Given the description of an element on the screen output the (x, y) to click on. 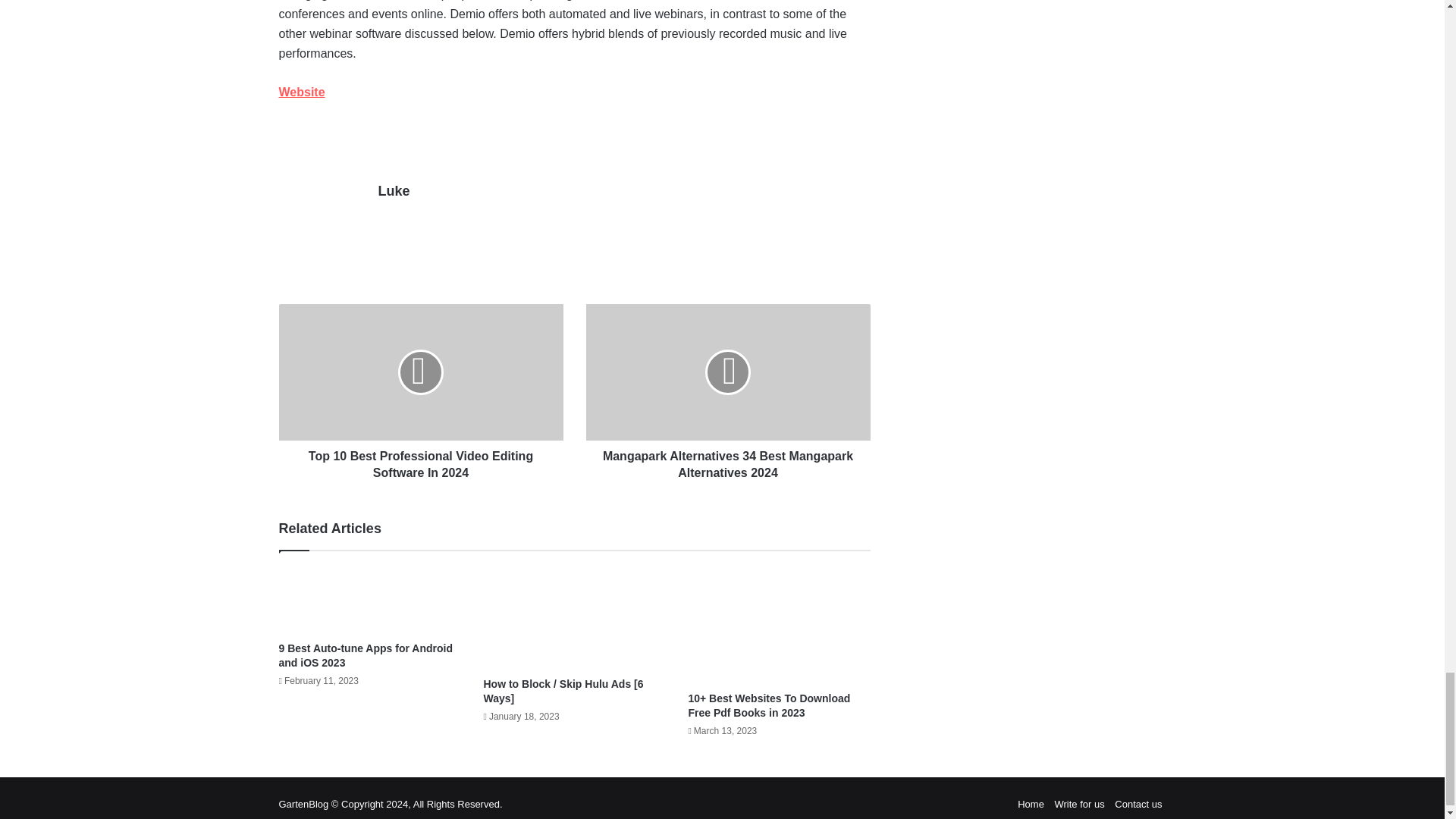
Mangapark Alternatives 34 Best Mangapark Alternatives 2024 (727, 371)
Mangapark Alternatives 34 Best Mangapark Alternatives 2024 (727, 460)
Top 10 Best Professional Video Editing Software In 2024 (421, 371)
Website (301, 91)
Top 10 Best Professional Video Editing Software In 2024 (421, 460)
Luke (393, 191)
